Given the description of an element on the screen output the (x, y) to click on. 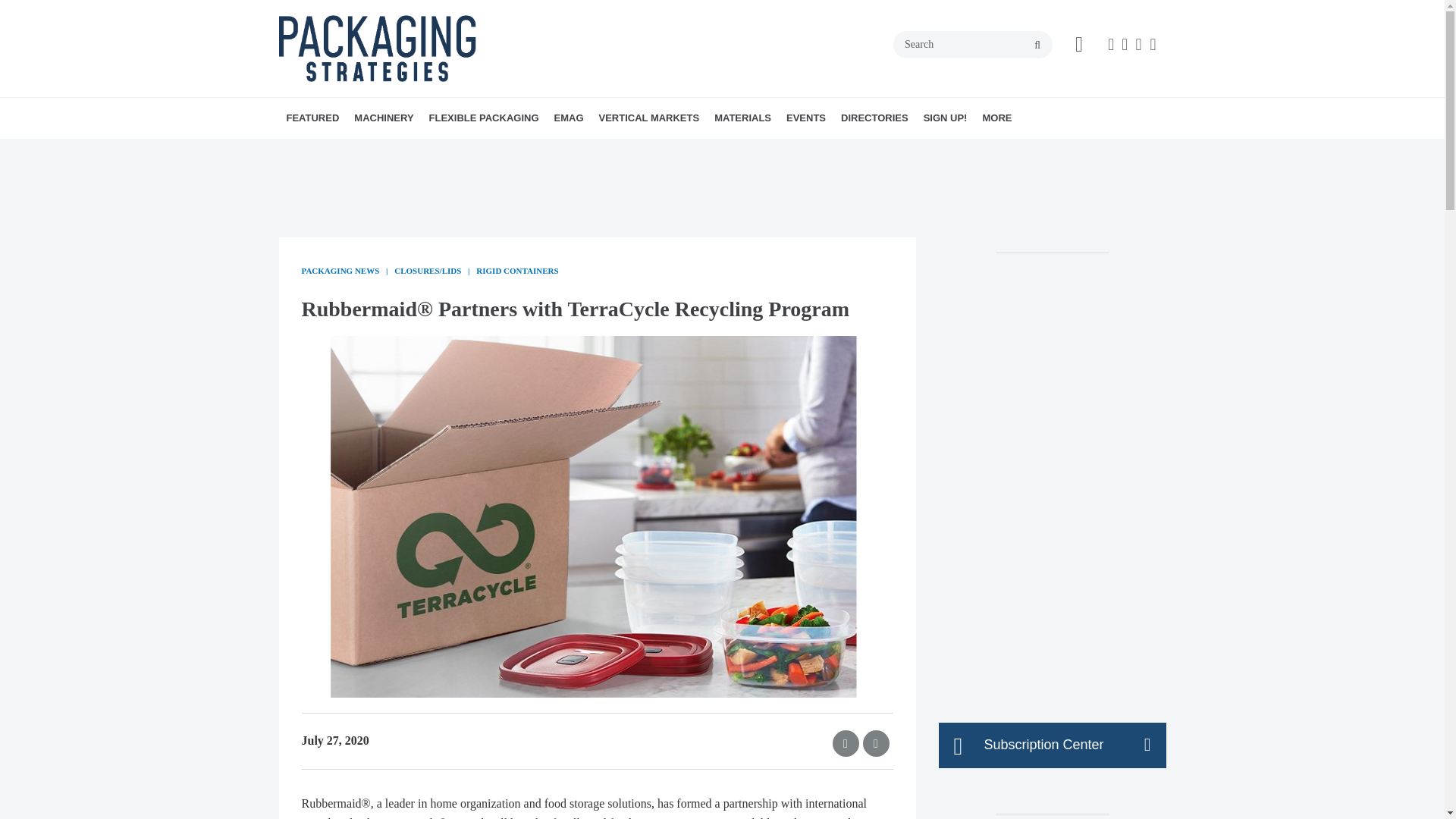
PACKAGING PERSPECTIVES PODCASTS (373, 159)
Search (972, 44)
PACKAGING NEWS (389, 150)
CONVEYORS (471, 150)
ROBOTICS (488, 150)
LABELING (484, 150)
MACHINERY (383, 117)
SUPPLY SIDE (405, 150)
EMAG (568, 117)
FEATURED (313, 117)
BRAND PACKAGING (384, 150)
NEW PACKAGES (395, 150)
search (1037, 45)
CARTONING (458, 150)
FLEXIBLE PACKAGING (484, 117)
